Given the description of an element on the screen output the (x, y) to click on. 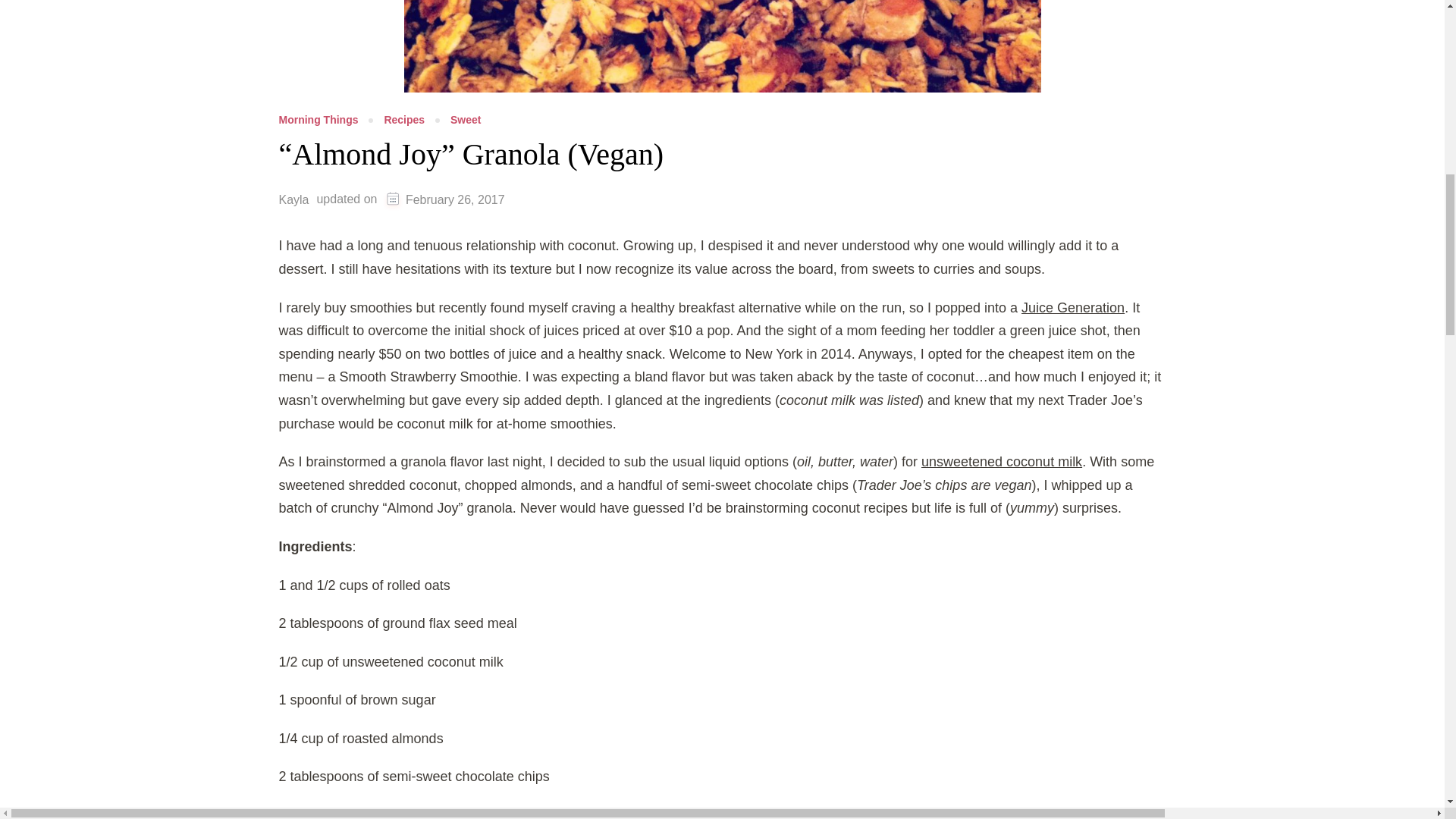
Kayla (293, 199)
Juice Generation (1073, 307)
unsweetened coconut milk (1001, 461)
Recipes (404, 120)
February 26, 2017 (455, 199)
Sweet (464, 120)
Morning Things (318, 120)
